Given the description of an element on the screen output the (x, y) to click on. 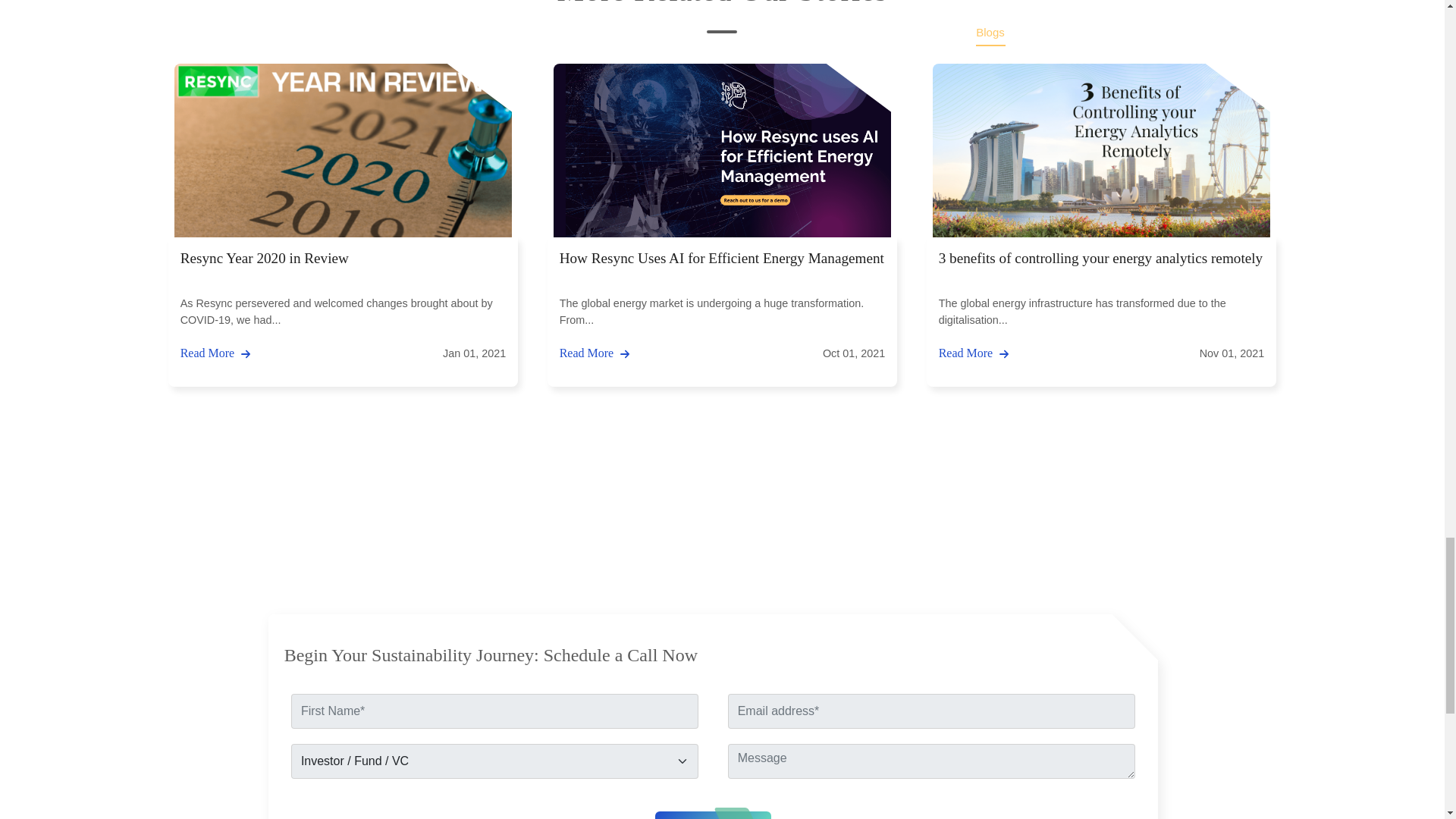
Read More (215, 352)
Read More (974, 352)
Submit (713, 815)
Read More (594, 352)
